Given the description of an element on the screen output the (x, y) to click on. 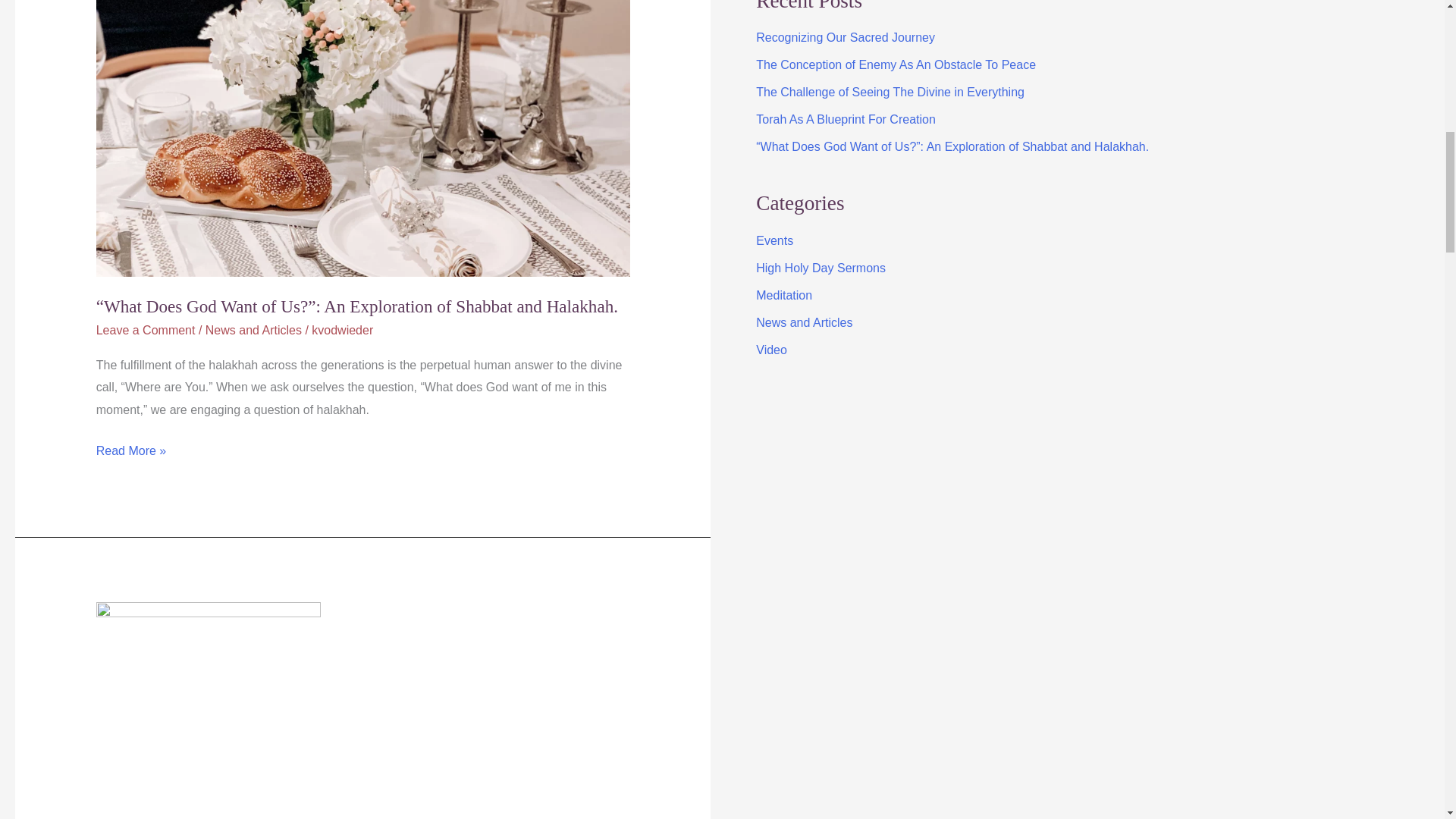
News and Articles (253, 329)
kvodwieder (341, 329)
View all posts by kvodwieder (341, 329)
Leave a Comment (145, 329)
